Given the description of an element on the screen output the (x, y) to click on. 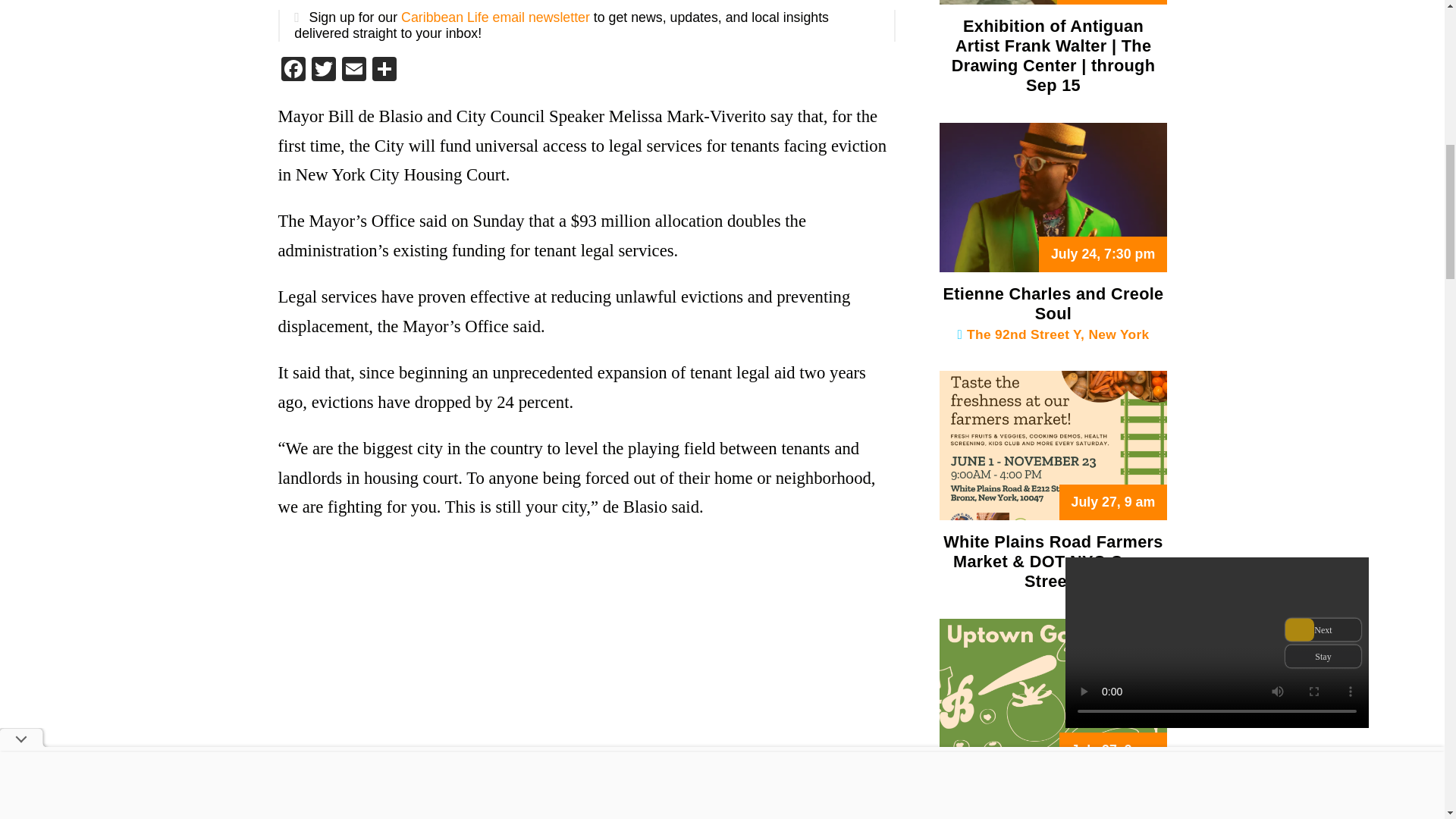
Email (352, 70)
Facebook (292, 70)
Twitter (322, 70)
